Given the description of an element on the screen output the (x, y) to click on. 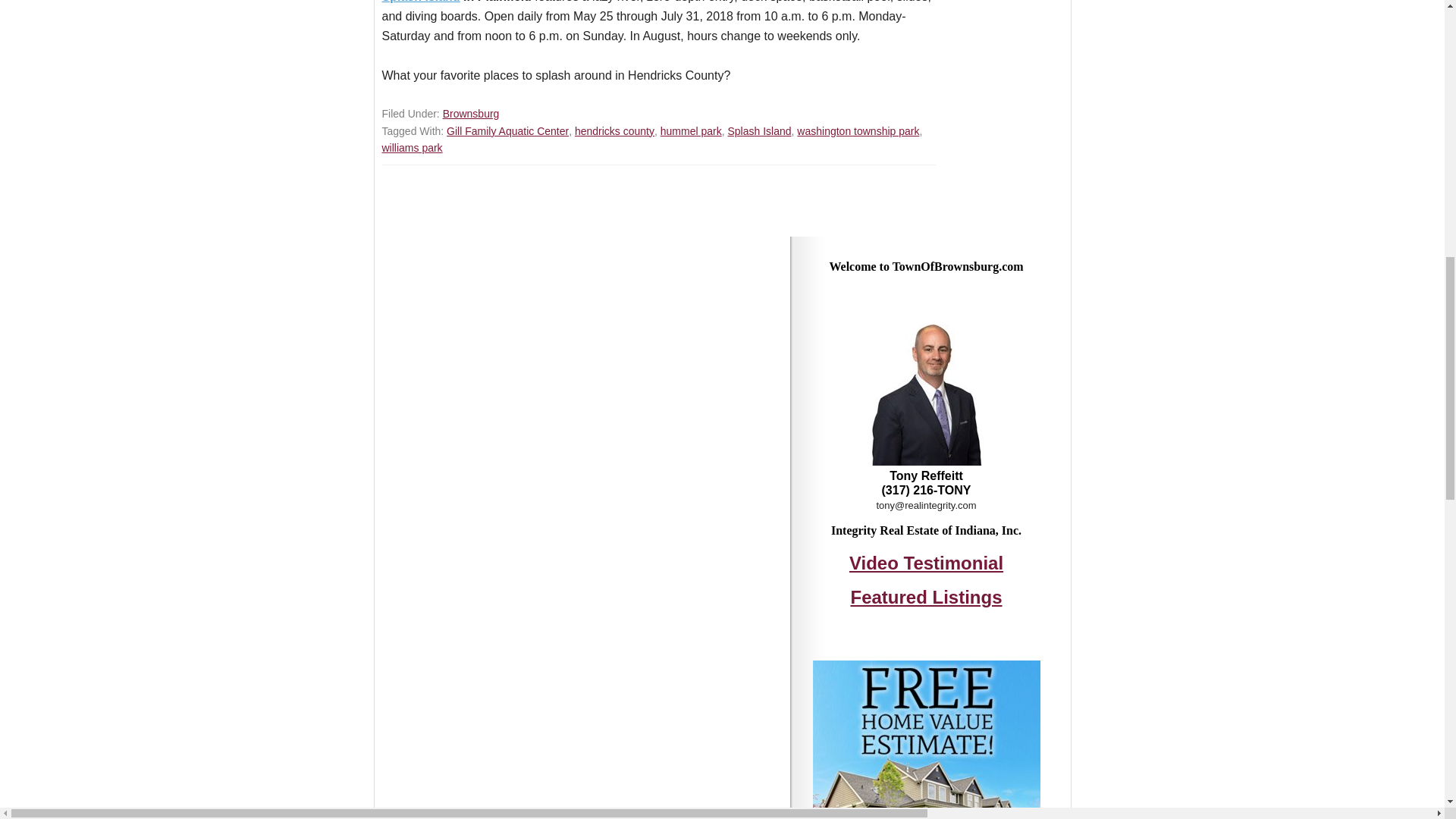
Featured Links (925, 597)
Video Testimonial (925, 562)
